Given the description of an element on the screen output the (x, y) to click on. 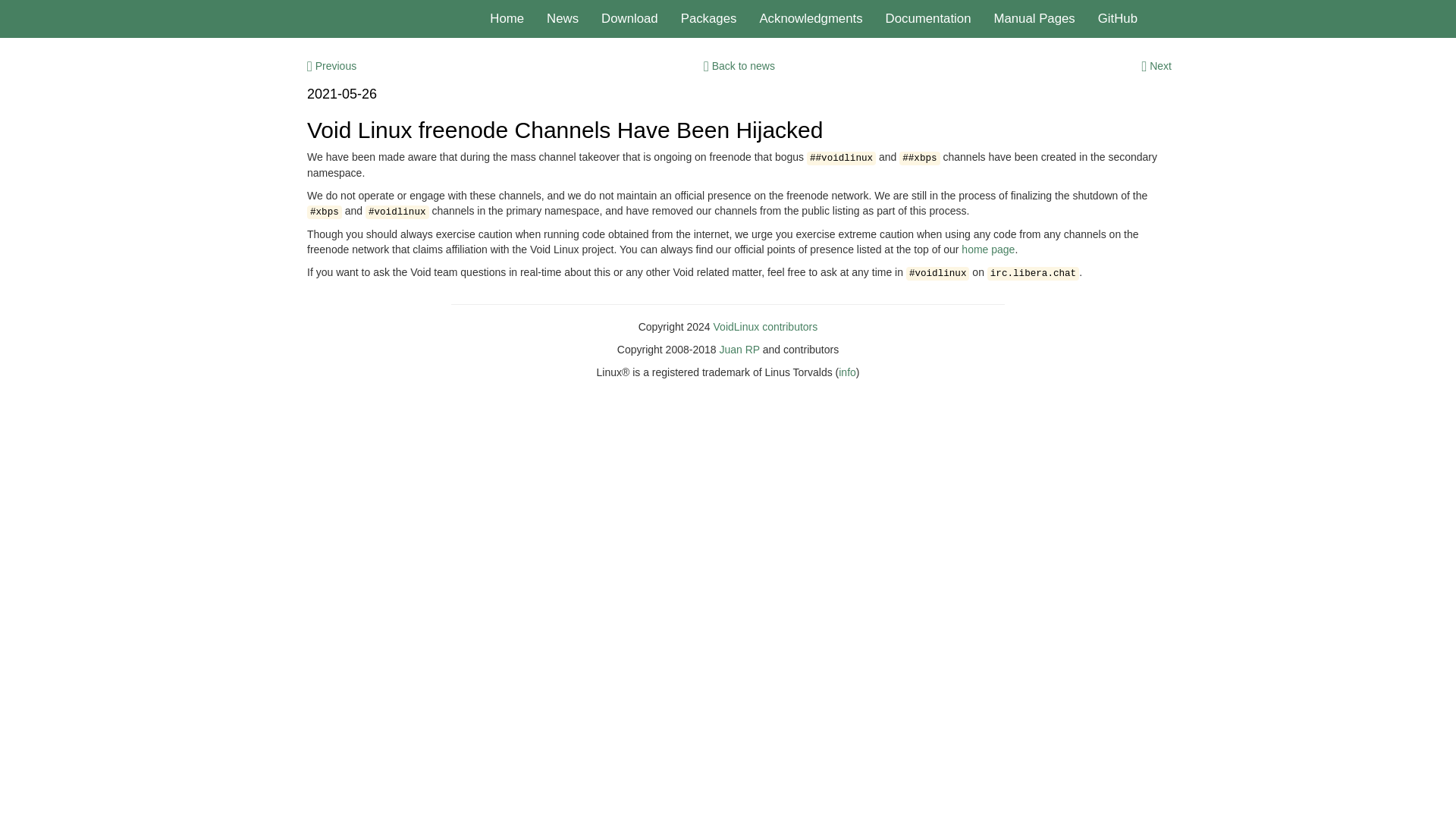
Juan RP (738, 349)
Packages (708, 18)
GitHub (1117, 18)
Previous news: IRC network switch to Libera (331, 65)
Manual Pages (1033, 18)
News (562, 18)
Next news: Repository Signing Disruption (1156, 65)
Home (507, 18)
Back to news index (738, 65)
Download (629, 18)
